Given the description of an element on the screen output the (x, y) to click on. 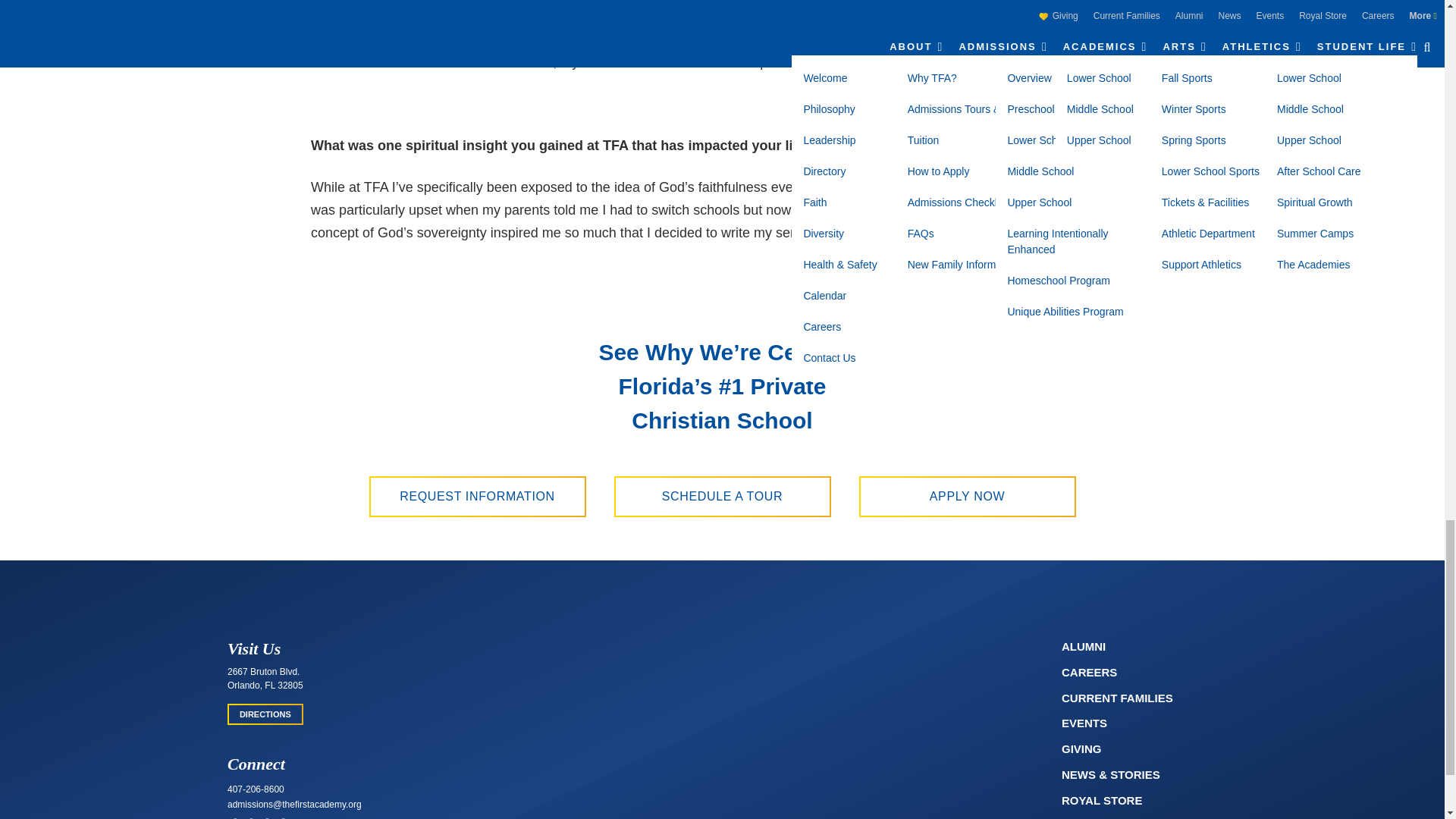
Go to Home Page (721, 643)
